Given the description of an element on the screen output the (x, y) to click on. 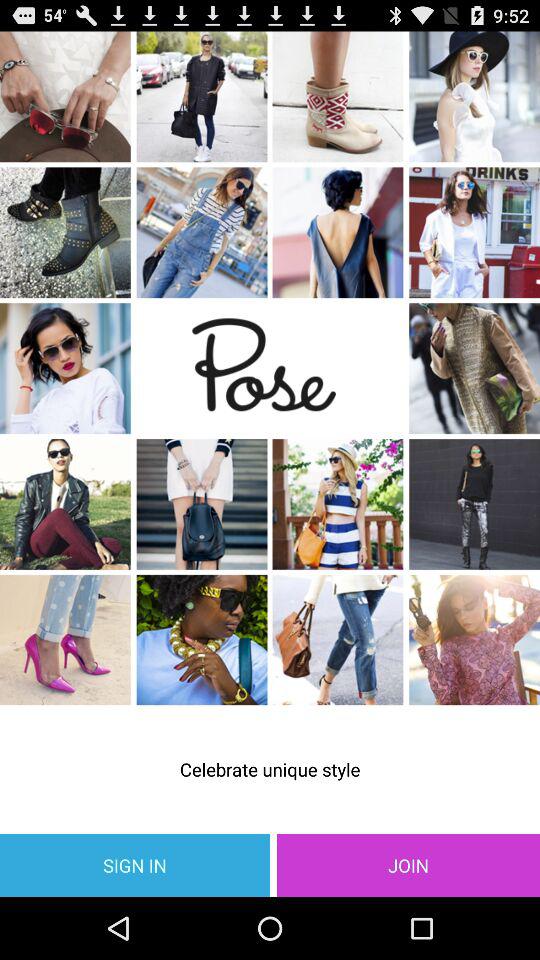
scroll to the join icon (408, 864)
